Given the description of an element on the screen output the (x, y) to click on. 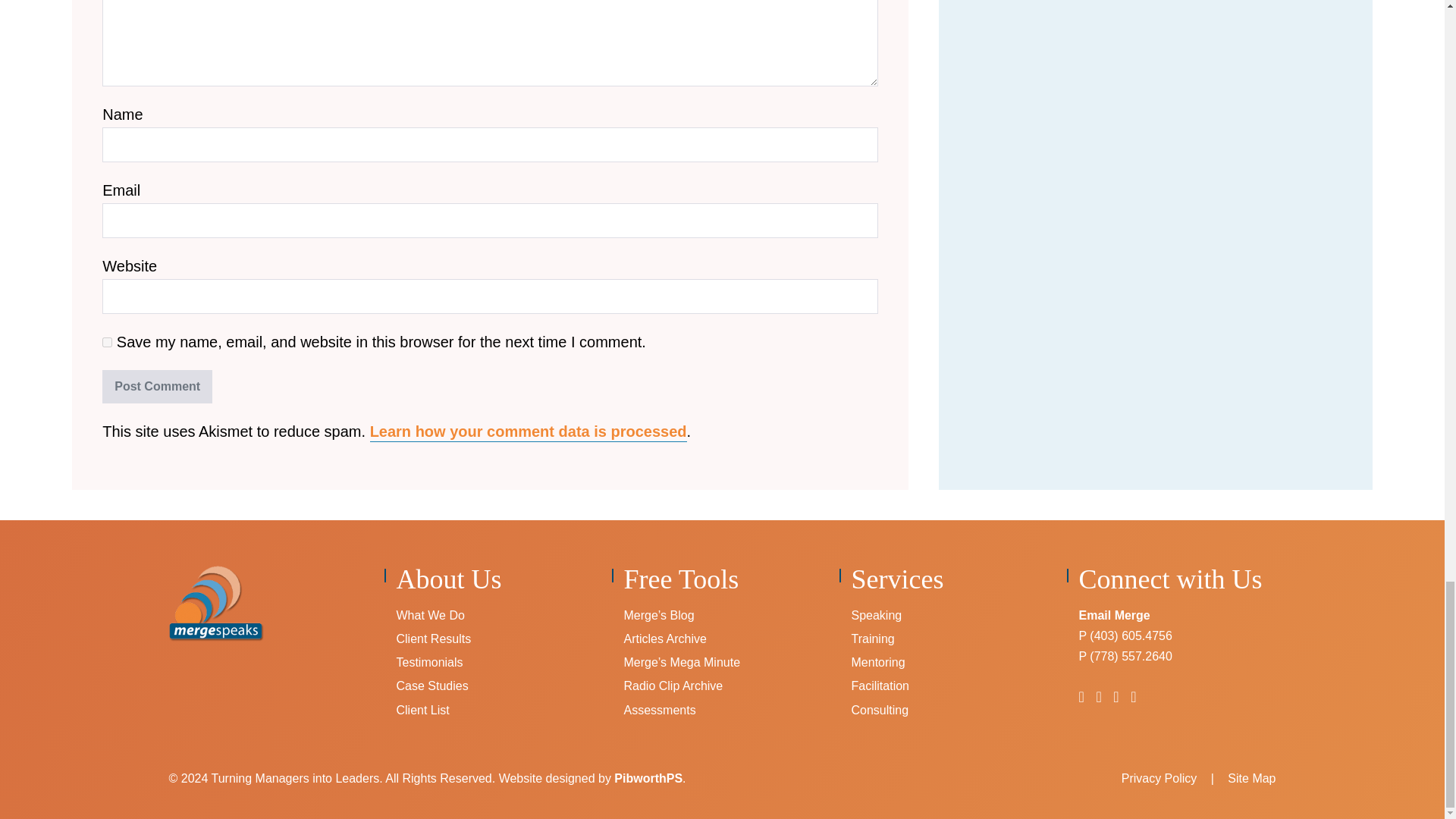
Post Comment (156, 386)
yes (106, 342)
merge-speaks-logo (215, 603)
